Given the description of an element on the screen output the (x, y) to click on. 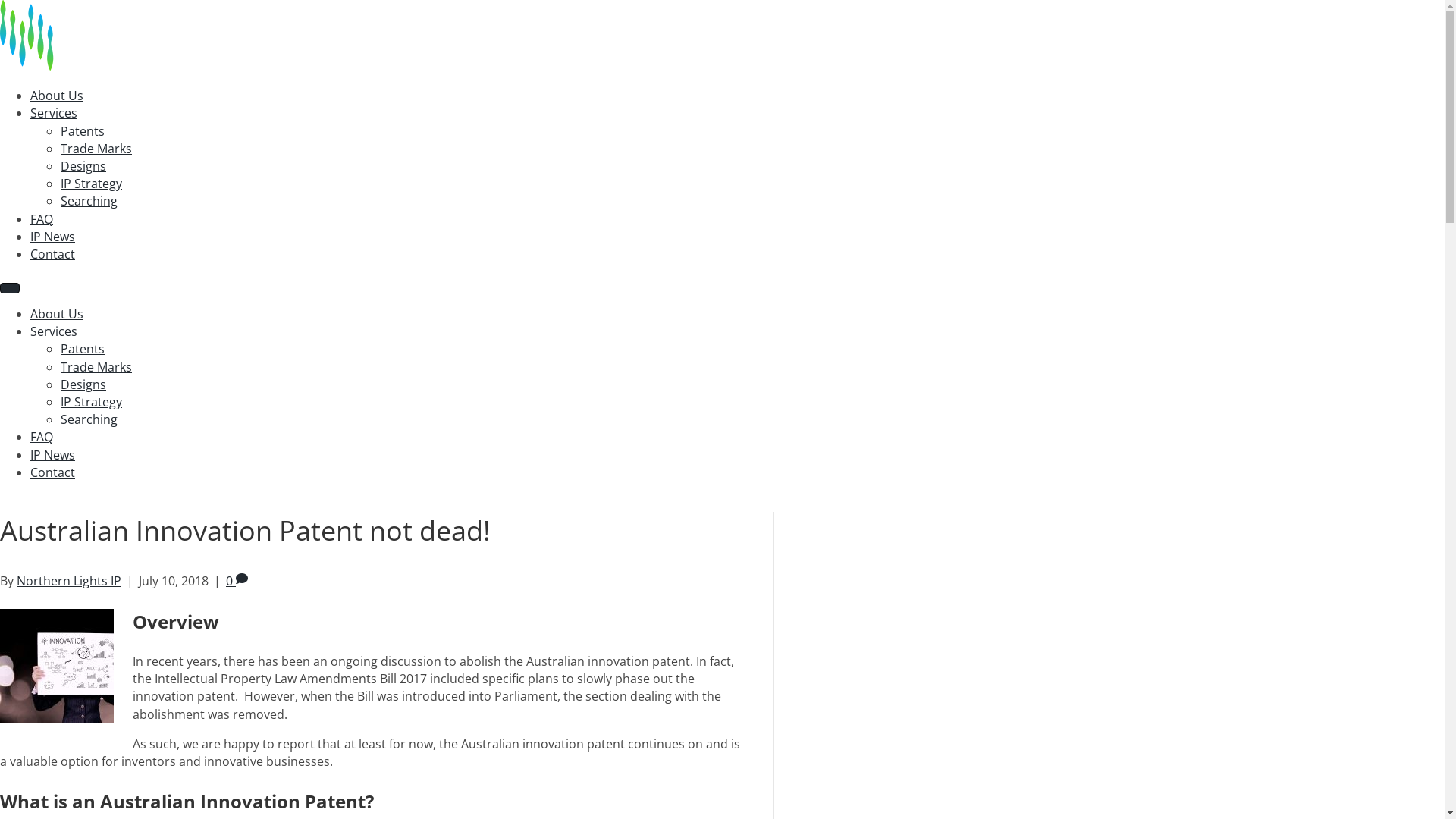
FAQ Element type: text (41, 218)
Searching Element type: text (88, 419)
Patents Element type: text (82, 348)
About Us Element type: text (56, 95)
Trade Marks Element type: text (95, 366)
Northern Lights IP Element type: text (68, 580)
Searching Element type: text (88, 200)
IP Strategy Element type: text (91, 401)
Services Element type: text (53, 112)
Contact Element type: text (52, 253)
IP News Element type: text (52, 236)
Patents Element type: text (82, 130)
Australian Innovation Patent not dead! Element type: hover (56, 717)
IP Strategy Element type: text (91, 183)
Contact Element type: text (52, 472)
About Us Element type: text (56, 313)
Trade Marks Element type: text (95, 148)
0 Element type: text (236, 580)
IP News Element type: text (52, 454)
Designs Element type: text (83, 165)
FAQ Element type: text (41, 436)
Designs Element type: text (83, 384)
Services Element type: text (53, 331)
Logo_Northern_Lights_IP Element type: hover (75, 35)
